Given the description of an element on the screen output the (x, y) to click on. 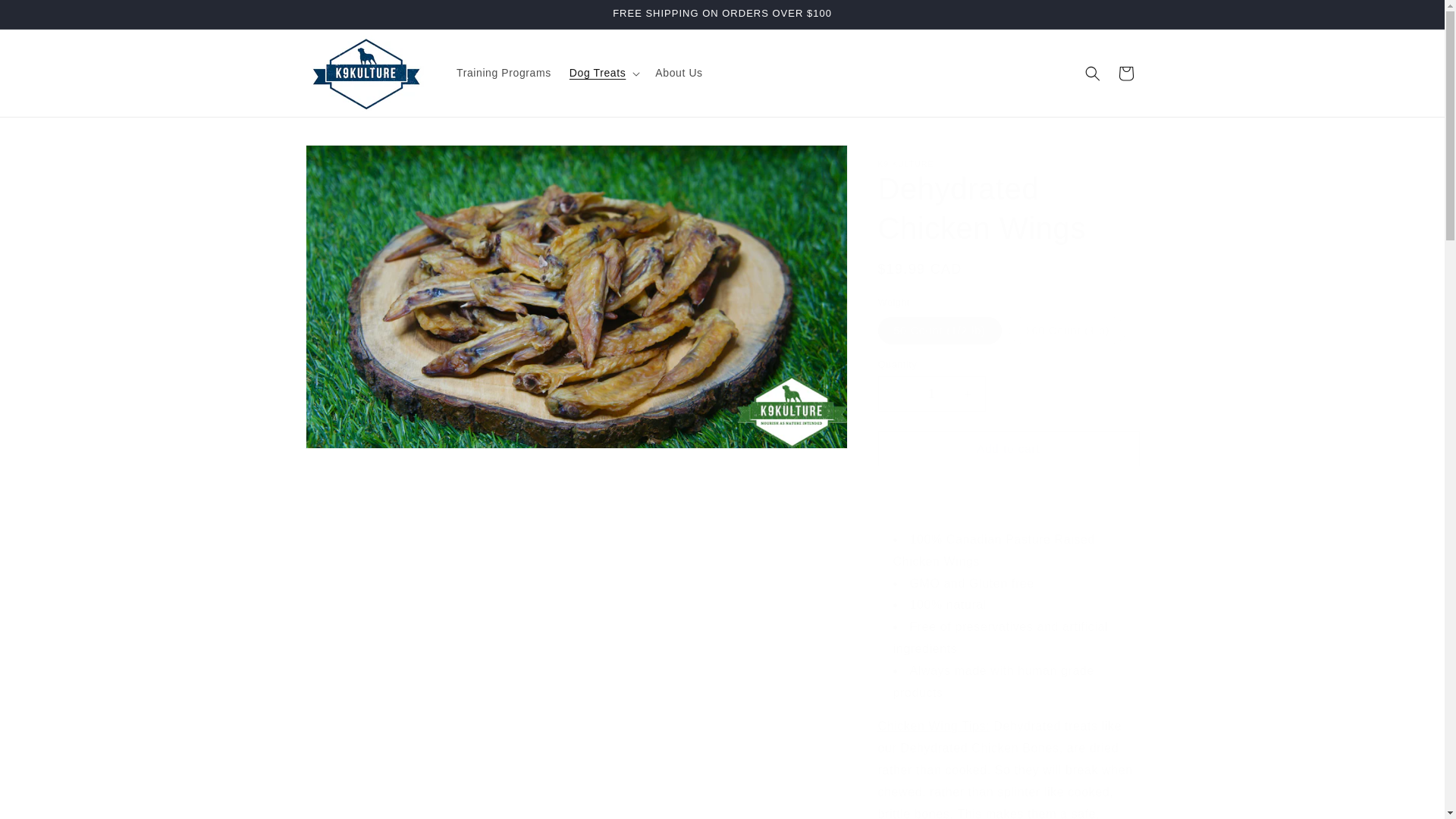
Decrease quantity for Dehydrated Chicken Wings (894, 393)
Add to cart (1008, 448)
Training Programs (503, 72)
1 (931, 393)
Increase quantity for Dehydrated Chicken Wings (967, 393)
About Us (678, 72)
Skip to content (45, 17)
Skip to product information (350, 161)
Cart (1124, 72)
